Given the description of an element on the screen output the (x, y) to click on. 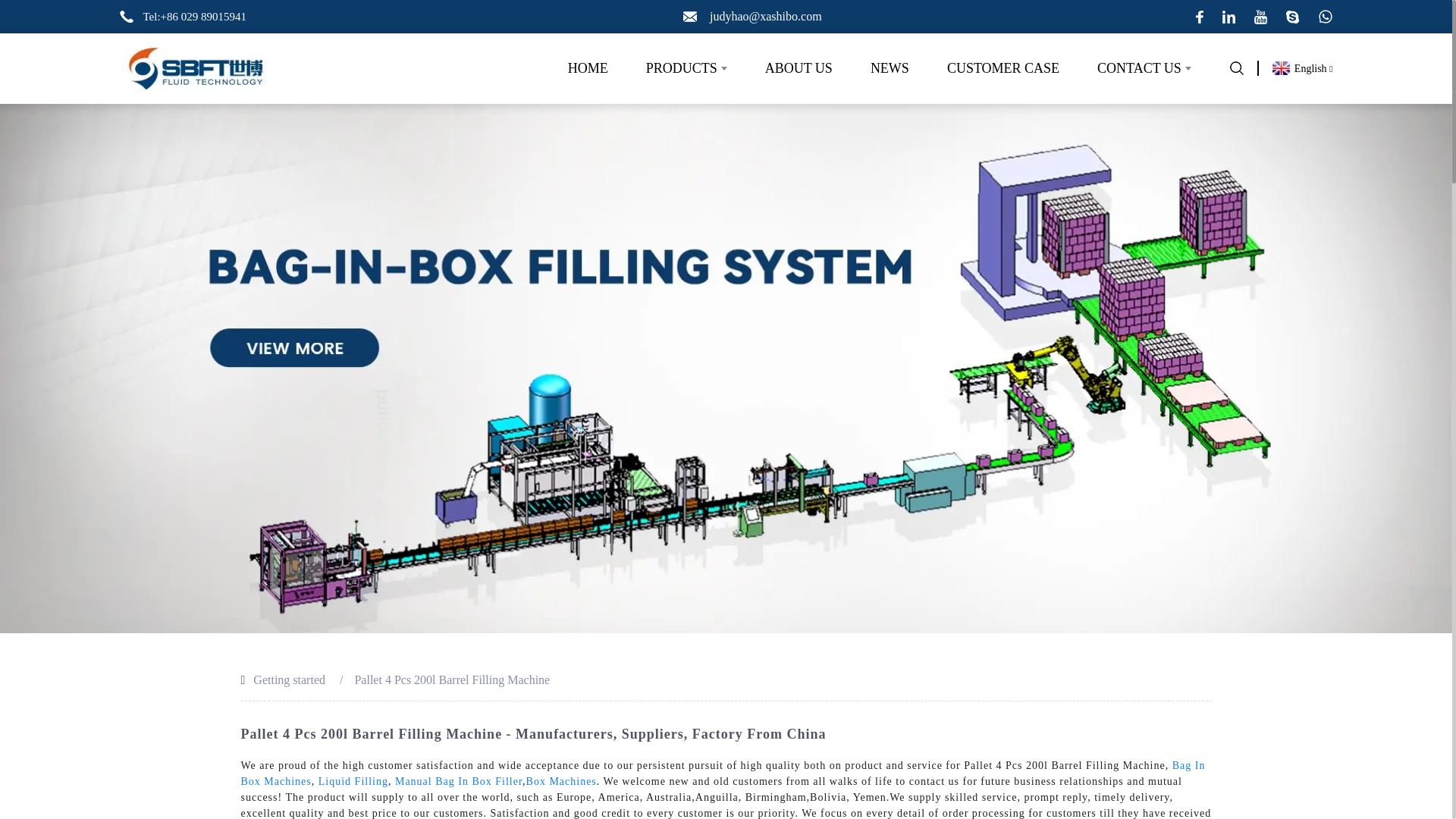
Bag In Box Machines (723, 773)
CUSTOMER CASE (1003, 68)
English (1302, 68)
Manual Bag In Box Filler (458, 781)
CONTACT US (1143, 68)
Manual Bag In Box Filler (458, 781)
Box Machines (560, 781)
Liquid Filling (353, 781)
Box Machines (560, 781)
ABOUT US (798, 68)
PRODUCTS (686, 68)
NEWS (889, 68)
Liquid Filling (353, 781)
Getting started (288, 679)
HOME (587, 68)
